Given the description of an element on the screen output the (x, y) to click on. 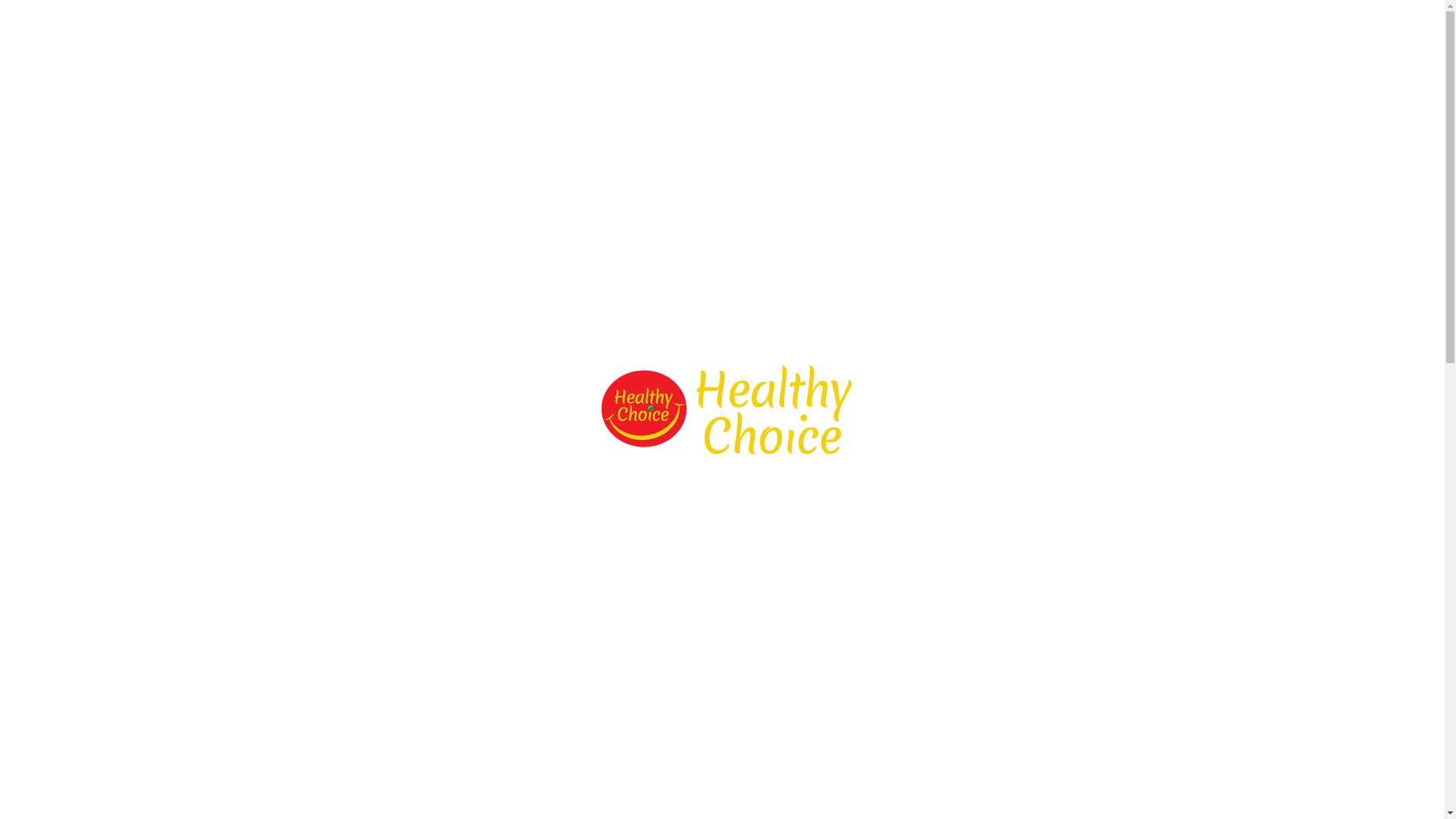
linkedin Element type: text (1253, 39)
Our Companies Element type: text (796, 39)
Gallery Element type: text (1007, 39)
instagram Element type: text (1335, 39)
facebook Element type: text (1225, 39)
youtube Element type: text (1280, 39)
Manufacturing Facilities Element type: text (913, 39)
google-plus Element type: text (1307, 39)
Career Element type: text (1164, 39)
Home Element type: text (582, 39)
About Us Element type: text (635, 39)
National Presence Element type: text (1086, 39)
Our Products Element type: text (707, 39)
